Given the description of an element on the screen output the (x, y) to click on. 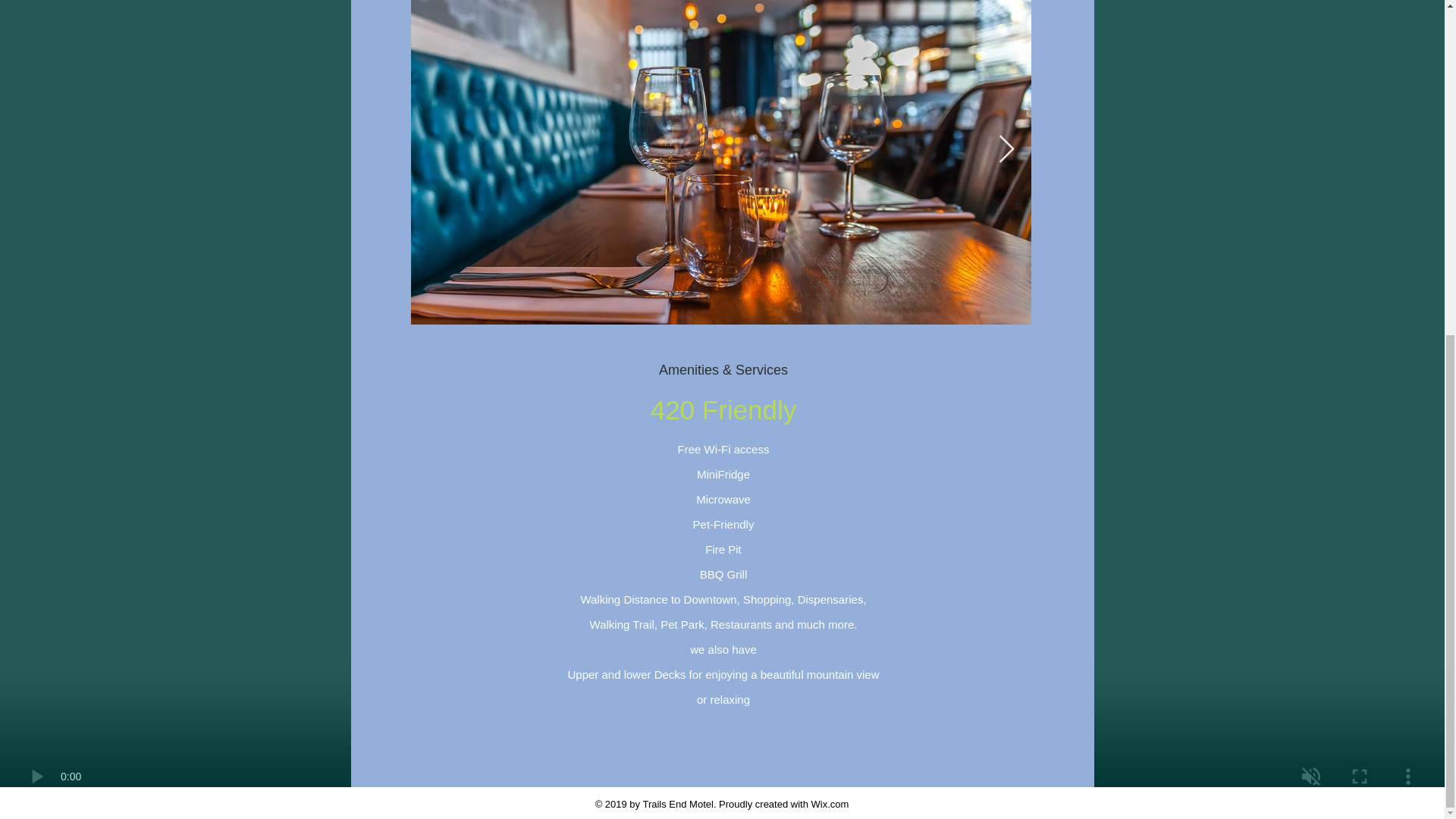
Wix.com (829, 803)
